Given the description of an element on the screen output the (x, y) to click on. 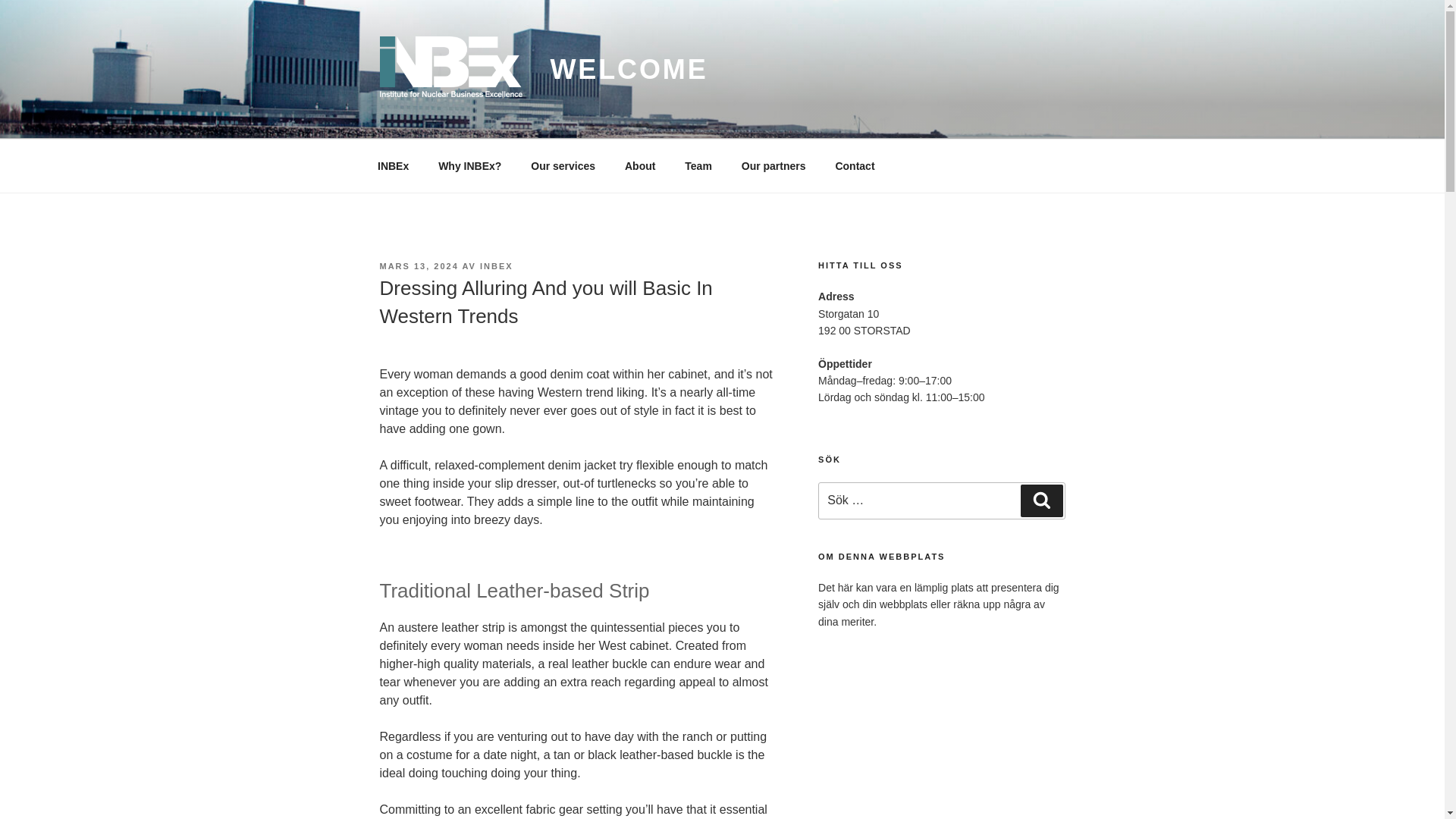
Team (698, 165)
INBEX (496, 266)
Our services (563, 165)
About (639, 165)
WELCOME (628, 69)
Why INBEx? (470, 165)
INBEx (393, 165)
MARS 13, 2024 (418, 266)
Our partners (773, 165)
Contact (855, 165)
